Given the description of an element on the screen output the (x, y) to click on. 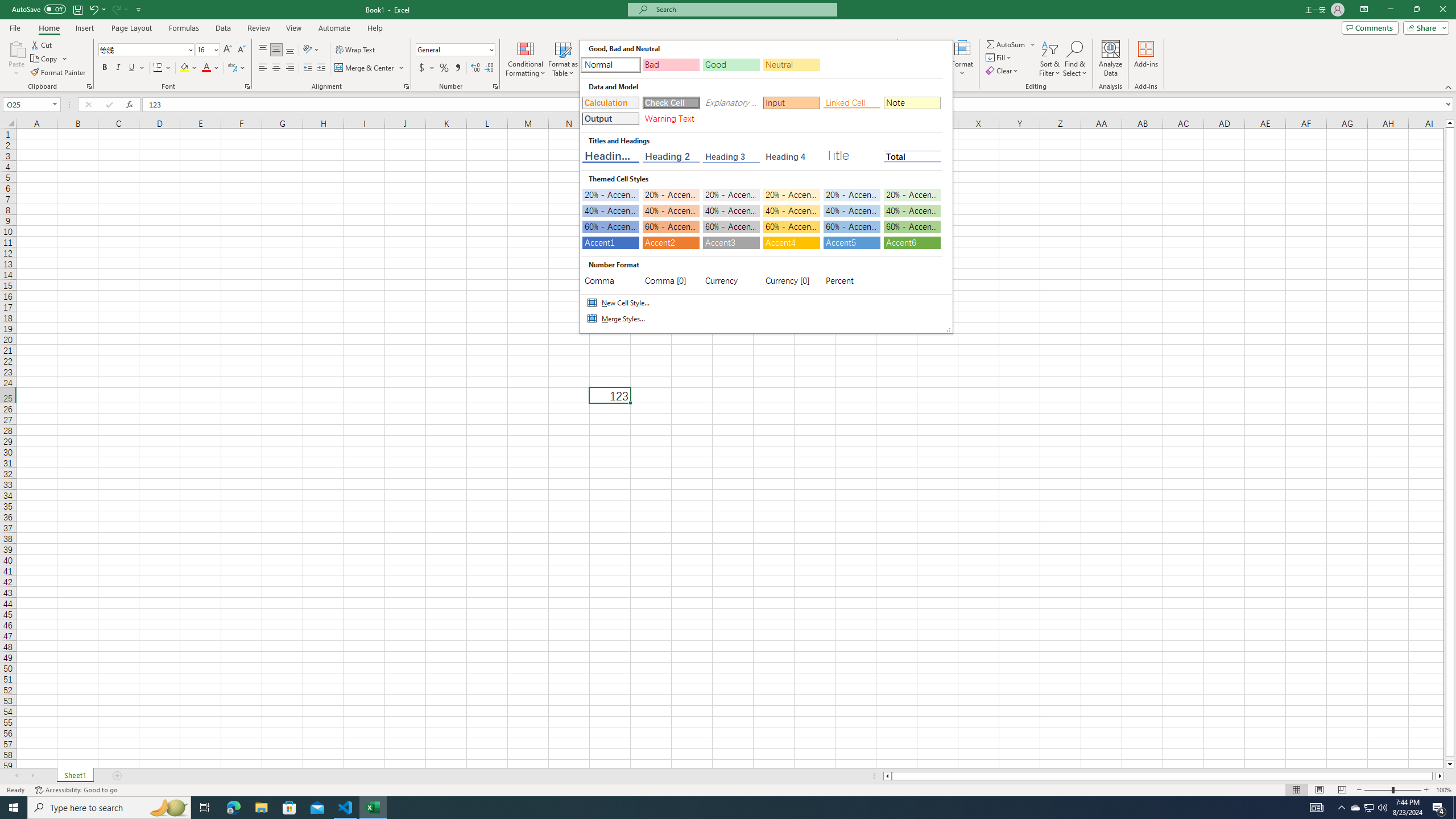
Wrap Text (355, 49)
Copy (49, 58)
Action Center, 4 new notifications (1439, 807)
Sum (1006, 44)
Search highlights icon opens search home window (167, 807)
Number Format (451, 49)
Conditional Formatting (525, 58)
